Given the description of an element on the screen output the (x, y) to click on. 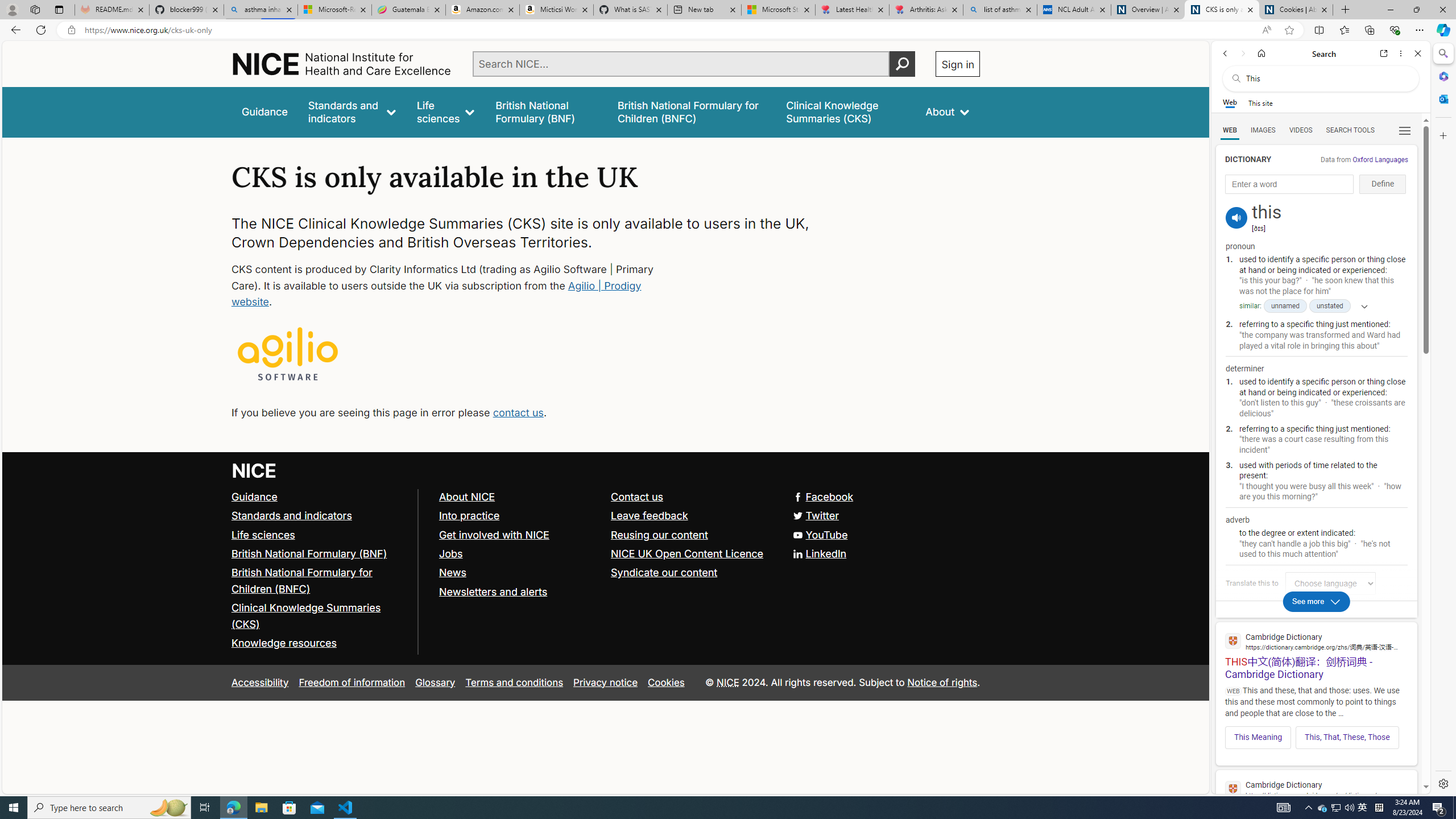
Global web icon (1232, 788)
CKS is only available in the UK | NICE (1221, 9)
Restore (1416, 9)
Life sciences (263, 534)
NCL Adult Asthma Inhaler Choice Guideline (1073, 9)
Copilot (Ctrl+Shift+.) (1442, 29)
Jobs (518, 553)
Into practice (468, 515)
Microsoft 365 (1442, 76)
Newsletters and alerts (518, 591)
New Tab (1346, 9)
